Given the description of an element on the screen output the (x, y) to click on. 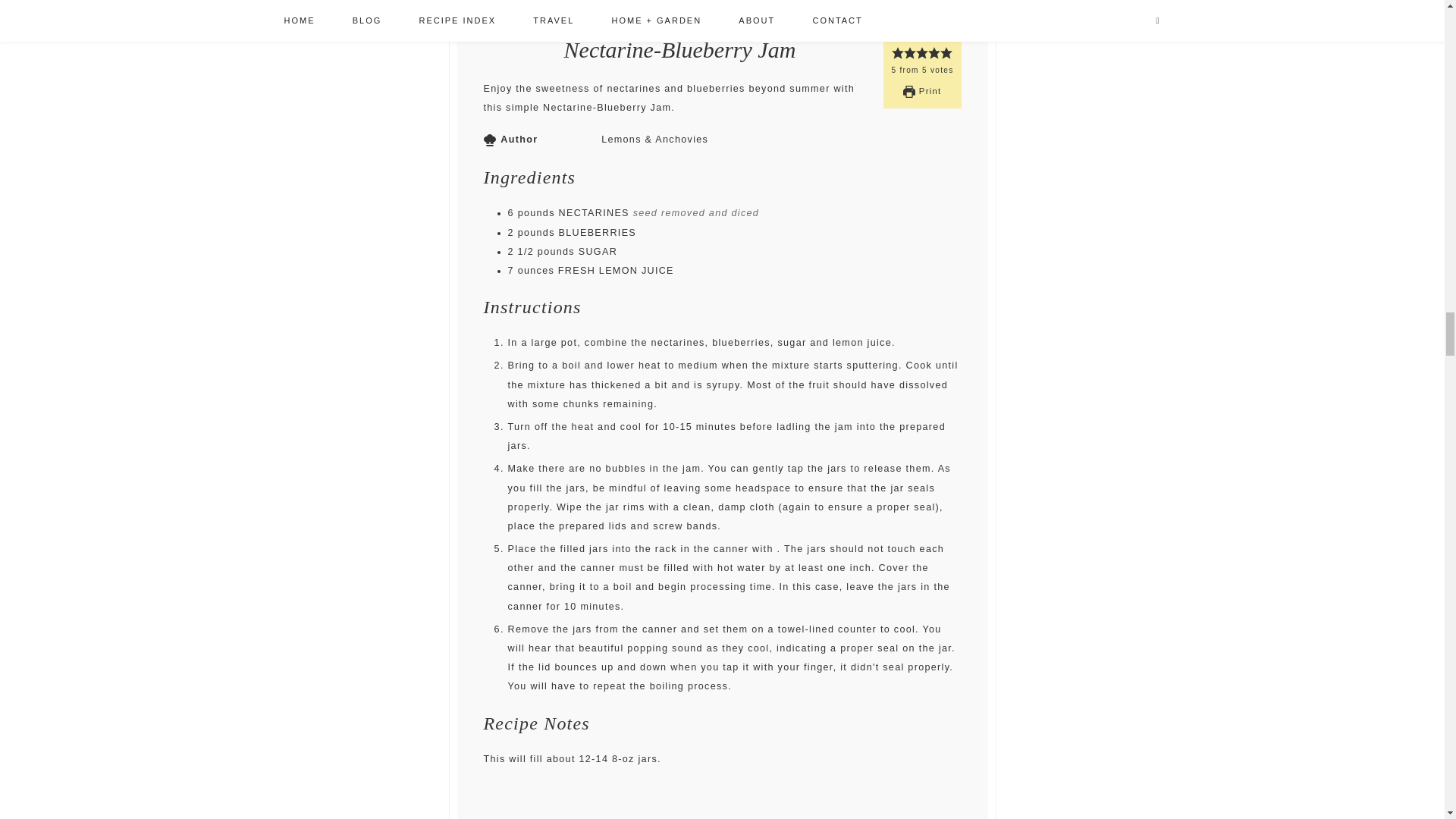
Print (921, 90)
